Given the description of an element on the screen output the (x, y) to click on. 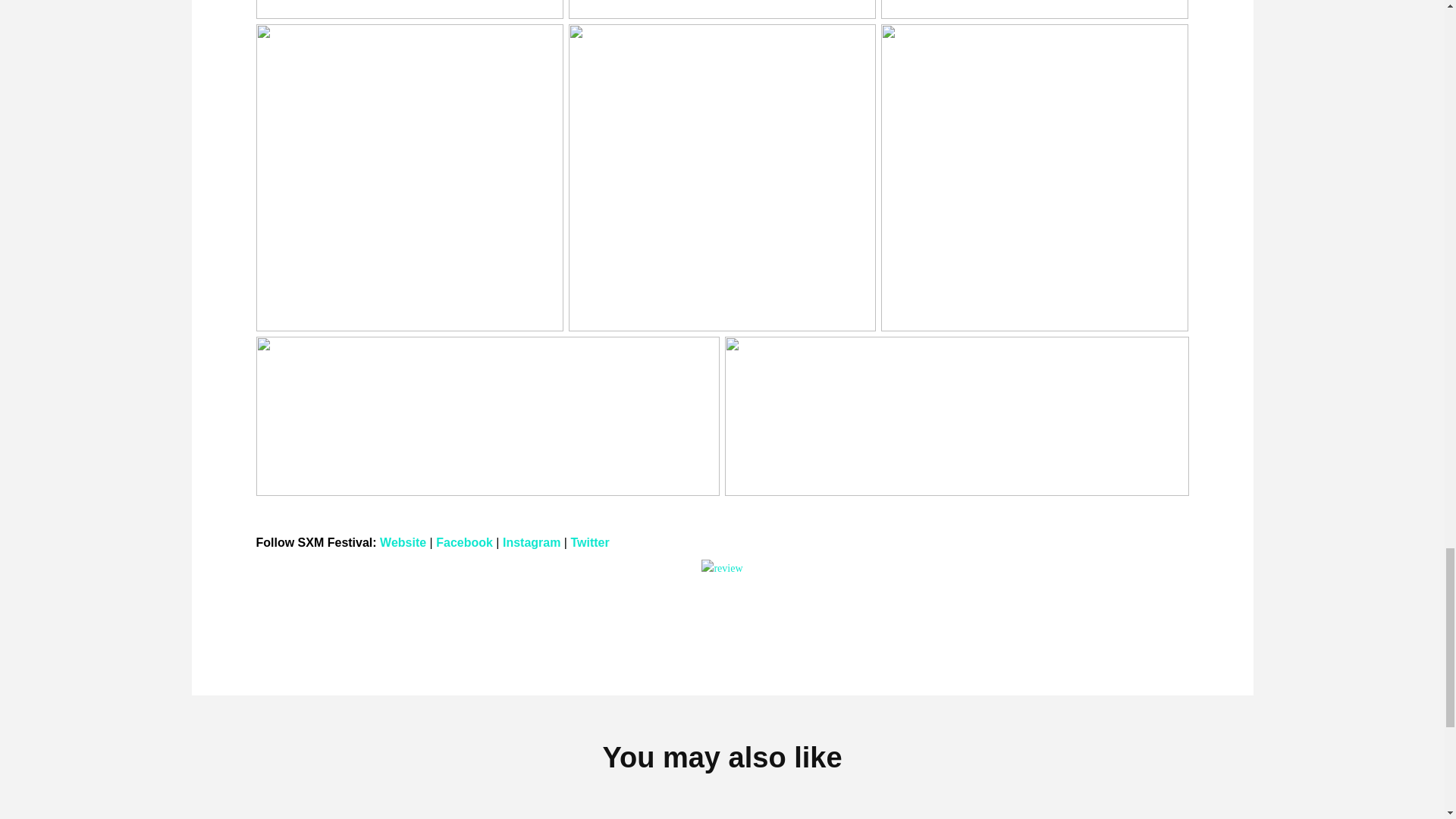
Instagram (531, 542)
Facebook (464, 542)
Twitter (589, 542)
Website (403, 542)
